Given the description of an element on the screen output the (x, y) to click on. 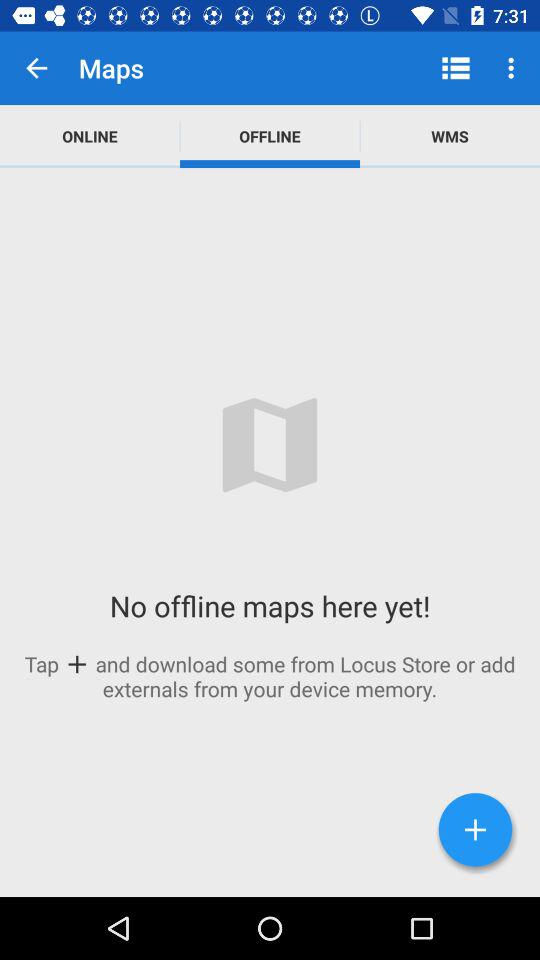
launch icon above the no offline maps item (90, 136)
